Given the description of an element on the screen output the (x, y) to click on. 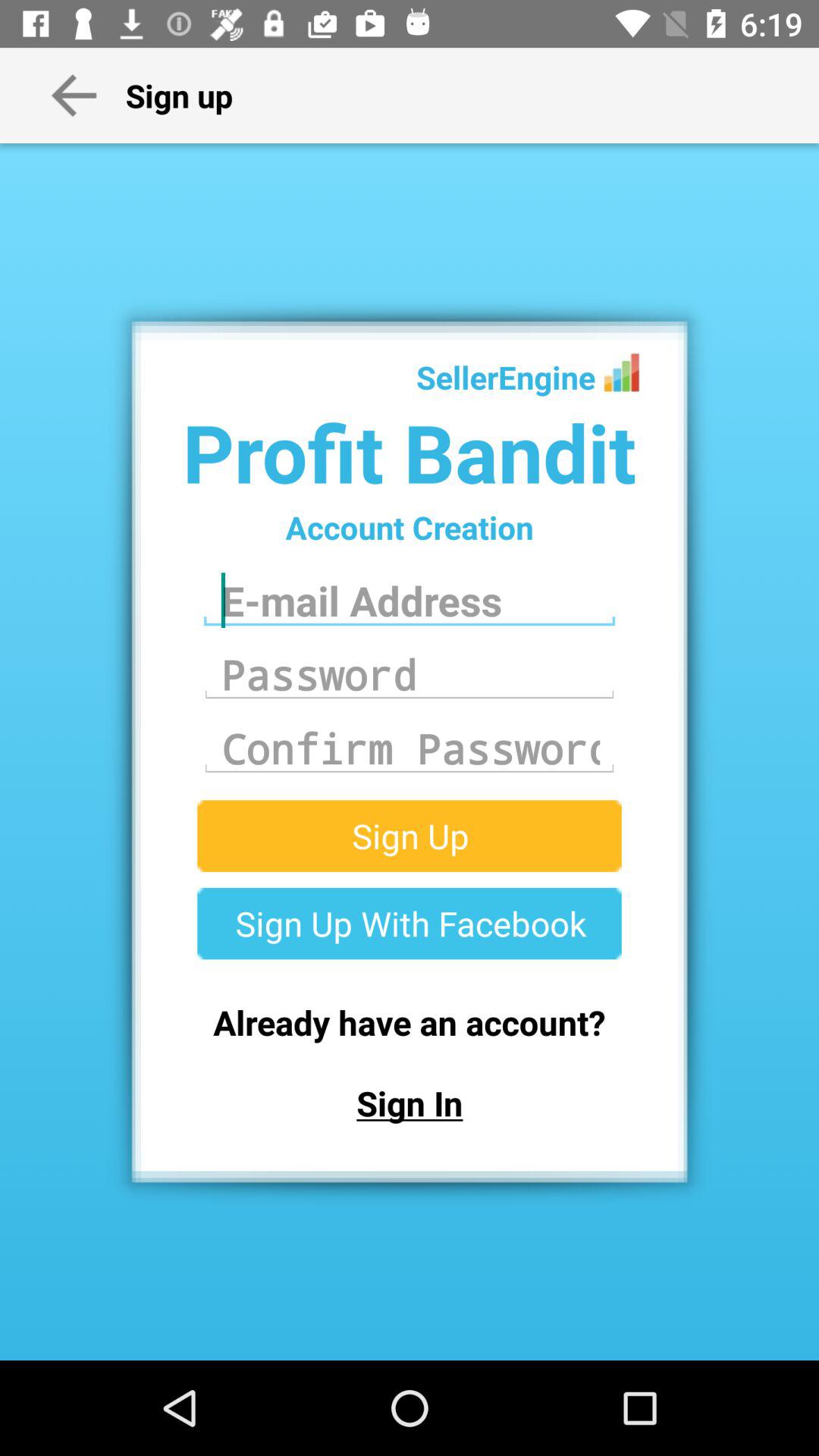
choose the sign in icon (409, 1103)
